Given the description of an element on the screen output the (x, y) to click on. 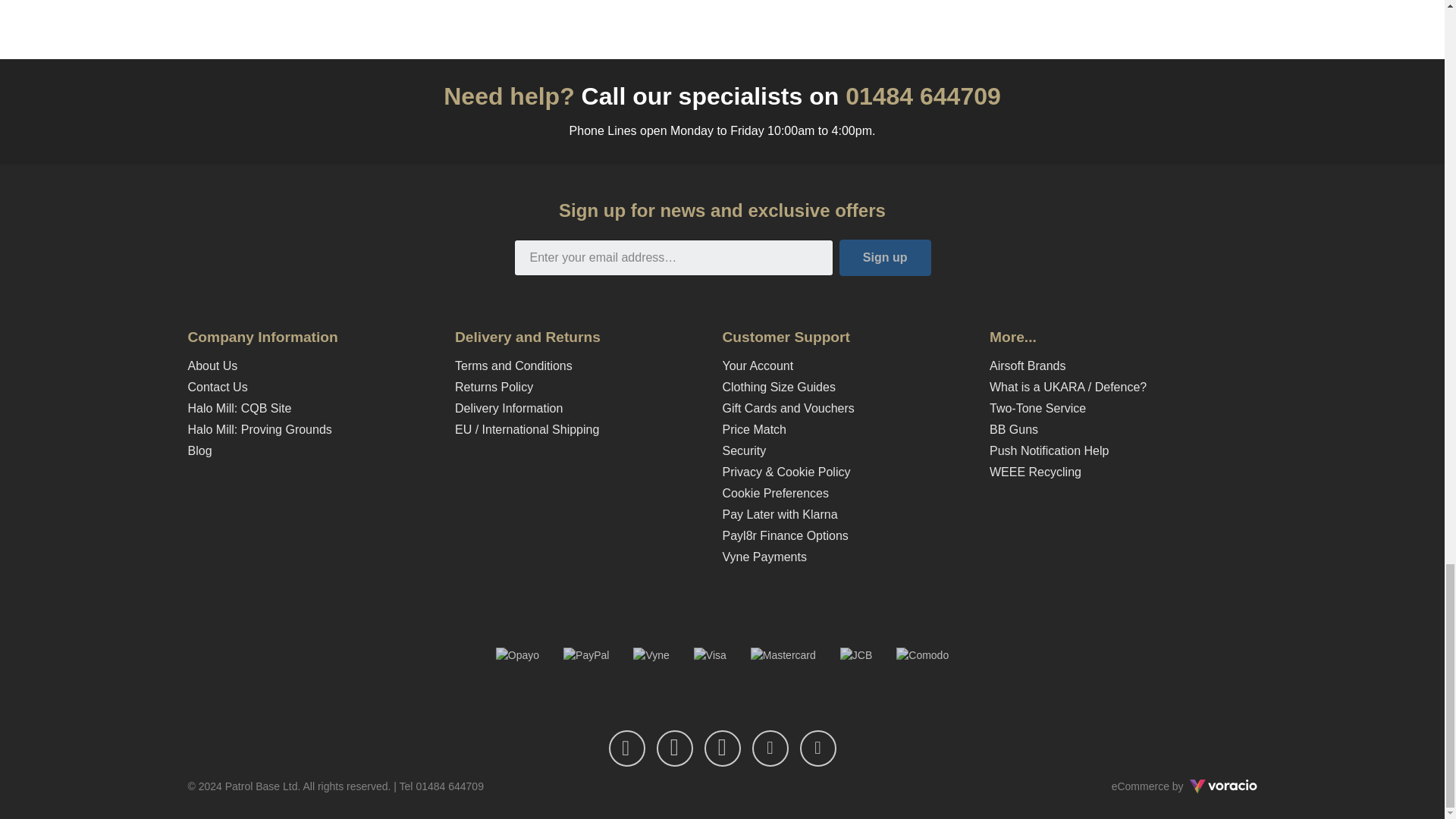
Comodo (922, 655)
Mastercard (783, 655)
Opayo (517, 655)
Vyne (650, 655)
Facebook profile (626, 748)
Visa (710, 655)
JCB (856, 655)
PayPal (585, 655)
